Given the description of an element on the screen output the (x, y) to click on. 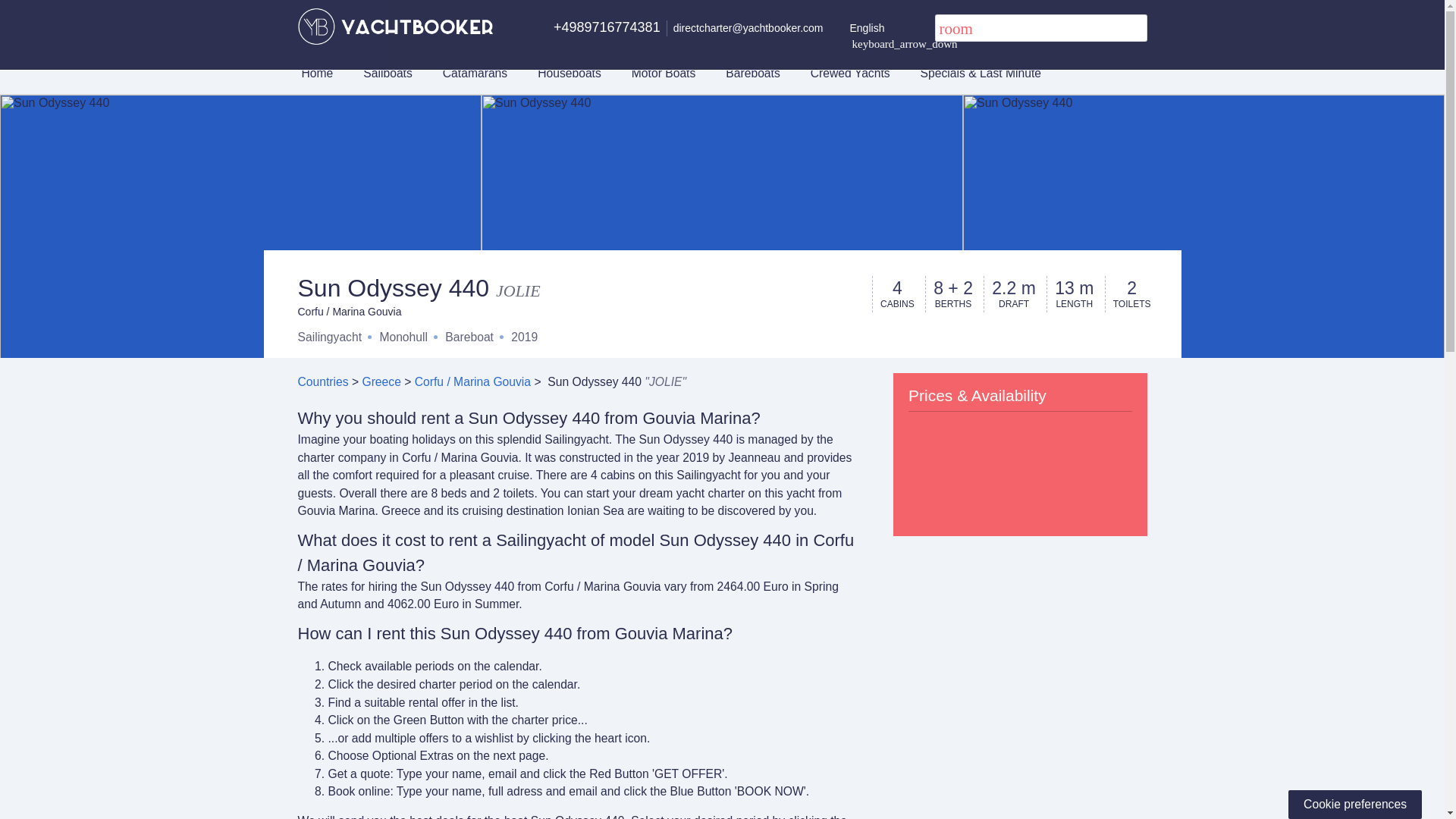
Crewed Yachts (849, 72)
Home (317, 72)
Motor Boats (663, 72)
Catamarans (475, 72)
Sailboats (386, 72)
Greece (380, 381)
Countries (322, 381)
logo on JOLIE page (395, 26)
Houseboats (568, 72)
Bareboats (752, 72)
